Given the description of an element on the screen output the (x, y) to click on. 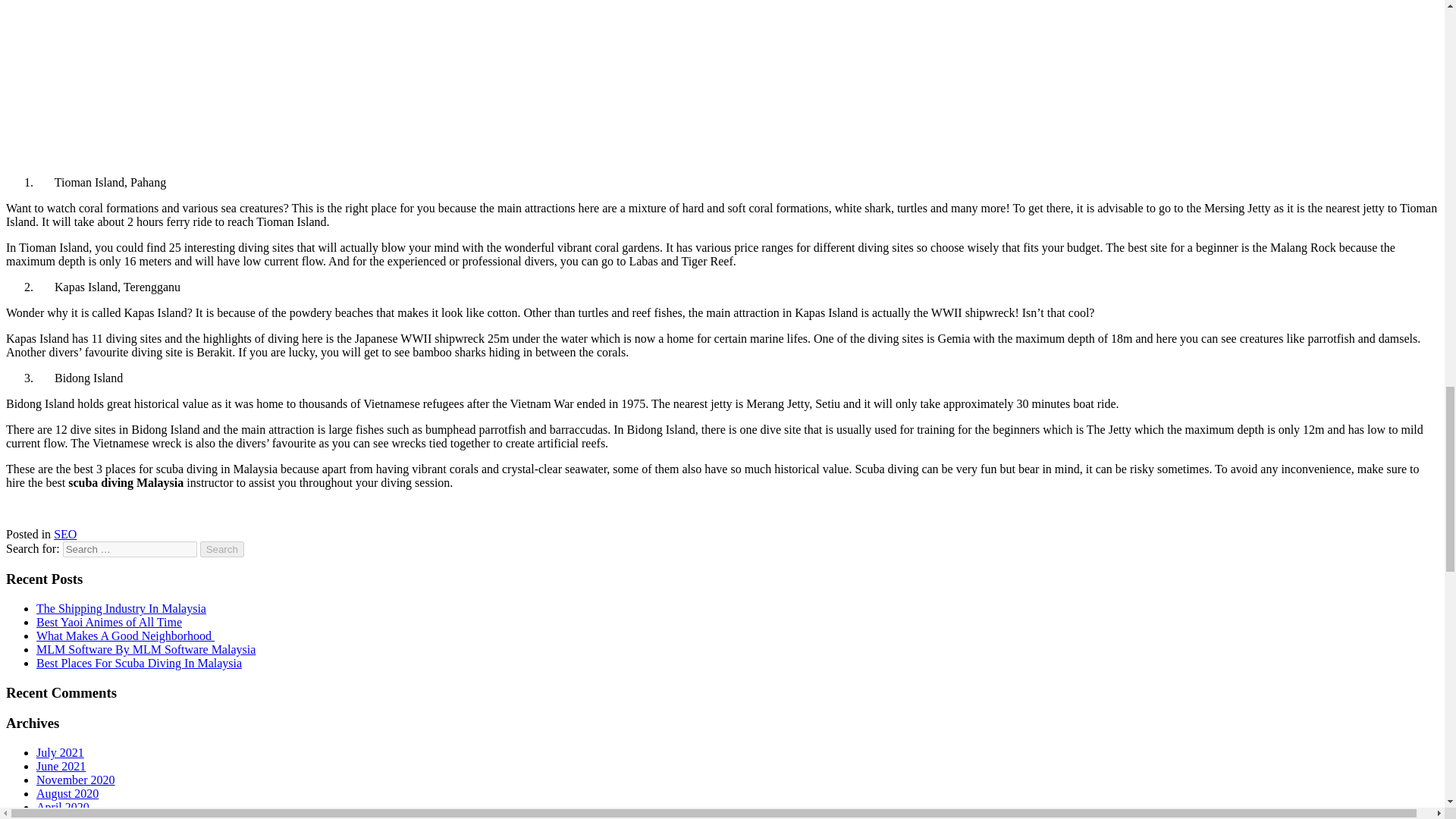
April 2020 (62, 807)
Search (222, 549)
Search (222, 549)
Best Places For Scuba Diving In Malaysia (138, 662)
March 2020 (66, 816)
July 2021 (60, 752)
The Shipping Industry In Malaysia (121, 608)
Best Yaoi Animes of All Time (109, 621)
November 2020 (75, 779)
August 2020 (67, 793)
